Given the description of an element on the screen output the (x, y) to click on. 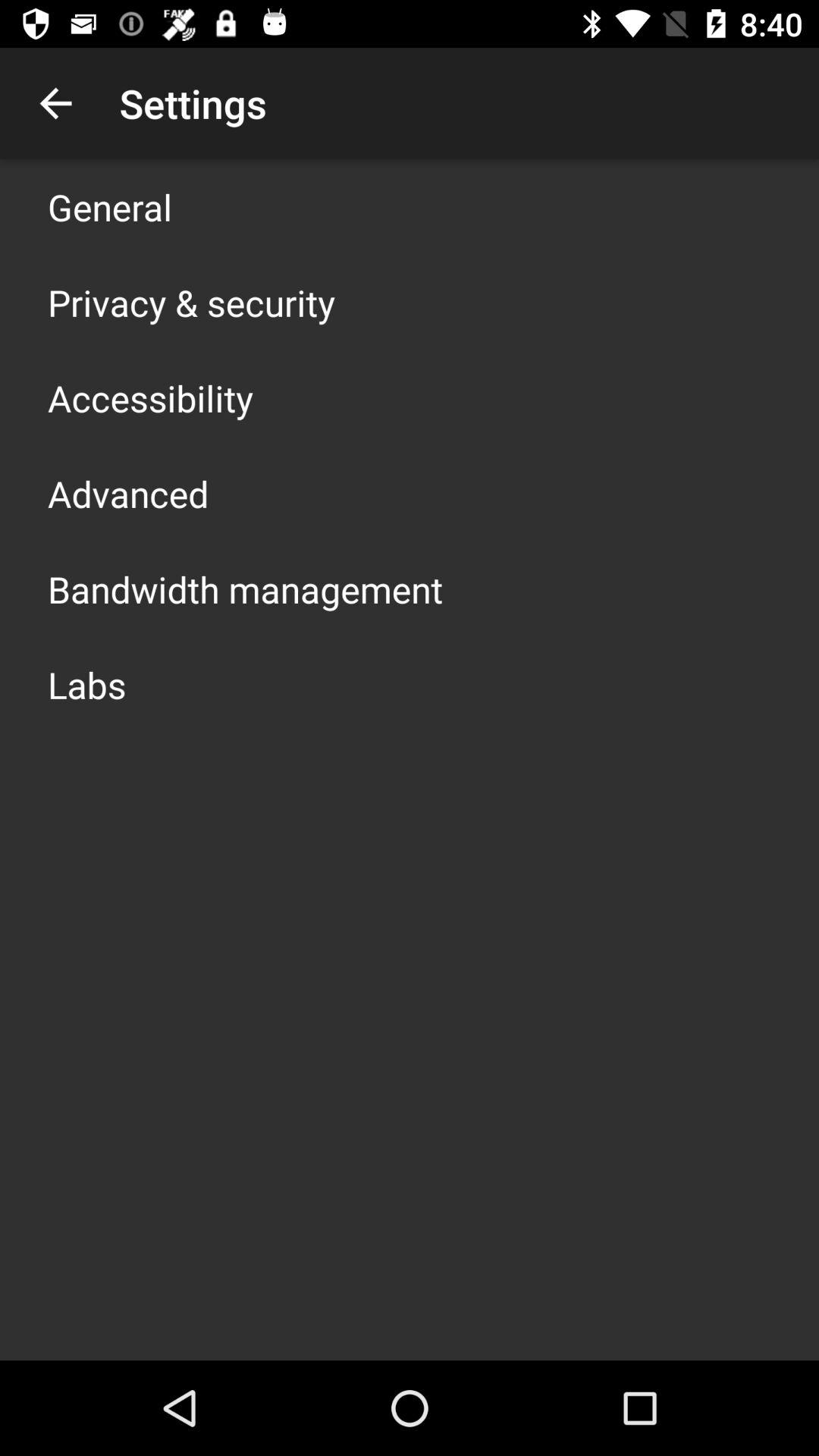
turn off item below the bandwidth management icon (86, 684)
